Given the description of an element on the screen output the (x, y) to click on. 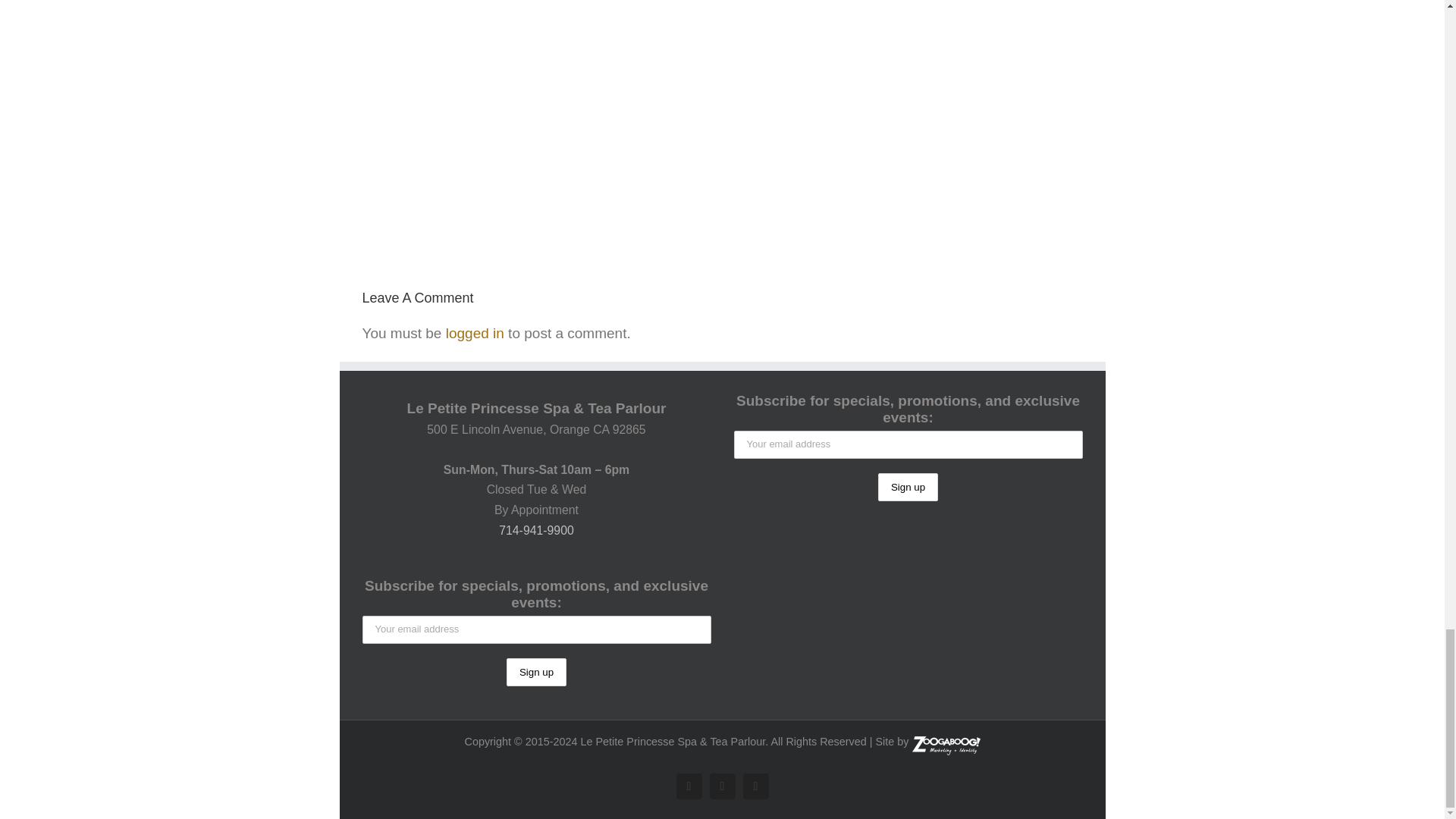
Facebook (689, 786)
Pinterest (722, 786)
logged in (474, 333)
Facebook (689, 786)
Sign up (907, 487)
Sign up (907, 487)
Instagram (755, 786)
Sign up (536, 672)
Pinterest (722, 786)
Instagram (755, 786)
